Given the description of an element on the screen output the (x, y) to click on. 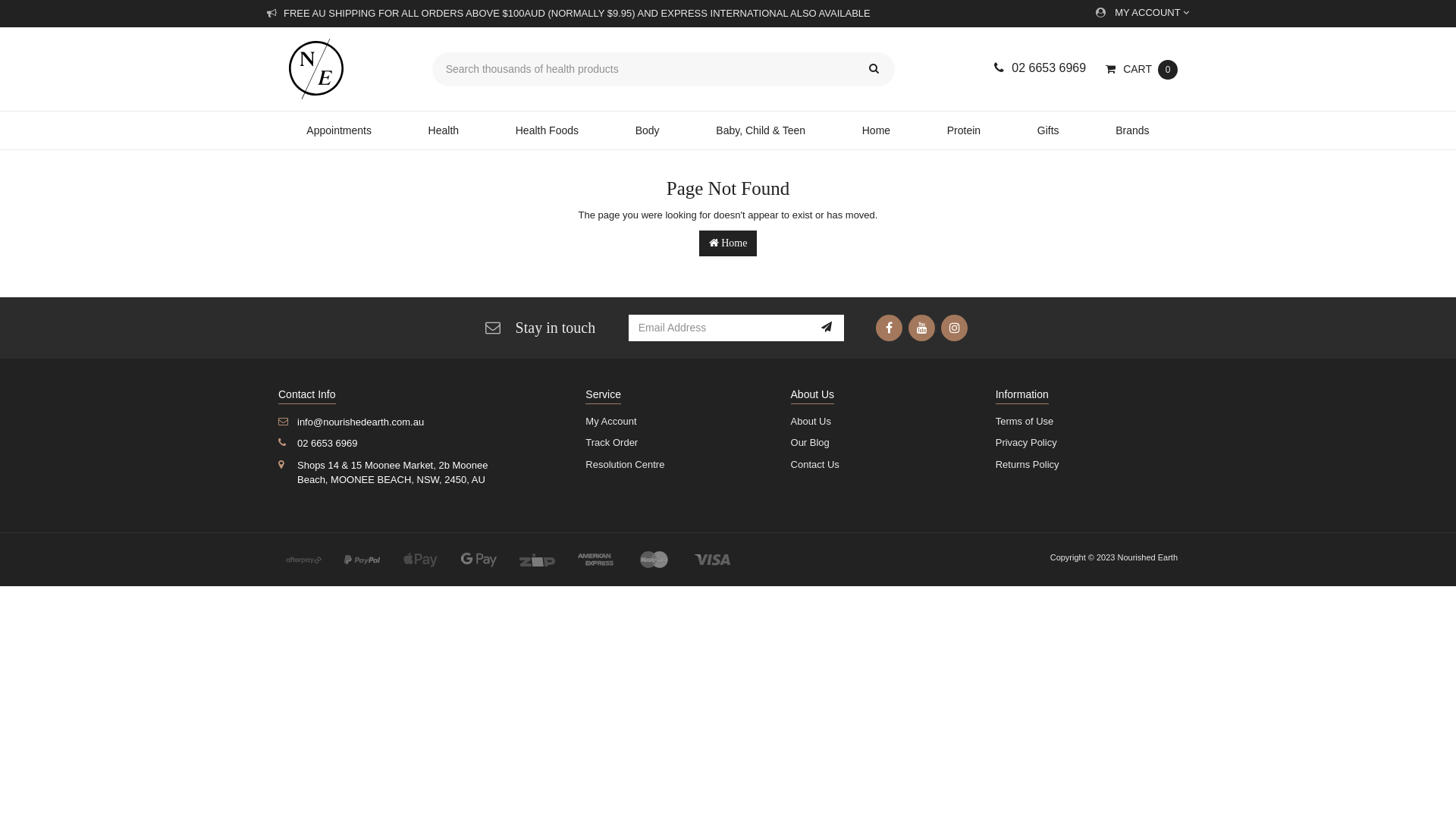
Brands Element type: text (1132, 130)
Nourished Earth Element type: hover (343, 68)
Contact Us Element type: text (875, 465)
Body Element type: text (647, 130)
Baby, Child & Teen Element type: text (760, 130)
Home Element type: text (875, 130)
Home Element type: text (728, 243)
Protein Element type: text (963, 130)
02 6653 6969 Element type: text (420, 444)
Instagram Element type: text (954, 327)
Privacy Policy Element type: text (1080, 443)
Facebook Element type: text (888, 327)
Gifts Element type: text (1047, 130)
02 6653 6969 Element type: text (1039, 68)
Resolution Centre Element type: text (670, 465)
Health Foods Element type: text (546, 130)
info@nourishedearth.com.au Element type: text (420, 422)
Track Order Element type: text (670, 443)
Youtube Element type: text (921, 327)
Our Blog Element type: text (875, 443)
My Account Element type: text (670, 421)
CART0 Element type: text (1141, 69)
MY ACCOUNT Element type: text (1142, 13)
Search Element type: text (873, 69)
About Us Element type: text (875, 421)
Health Element type: text (443, 130)
Terms of Use Element type: text (1080, 421)
Returns Policy Element type: text (1080, 465)
Appointments Element type: text (338, 130)
